Given the description of an element on the screen output the (x, y) to click on. 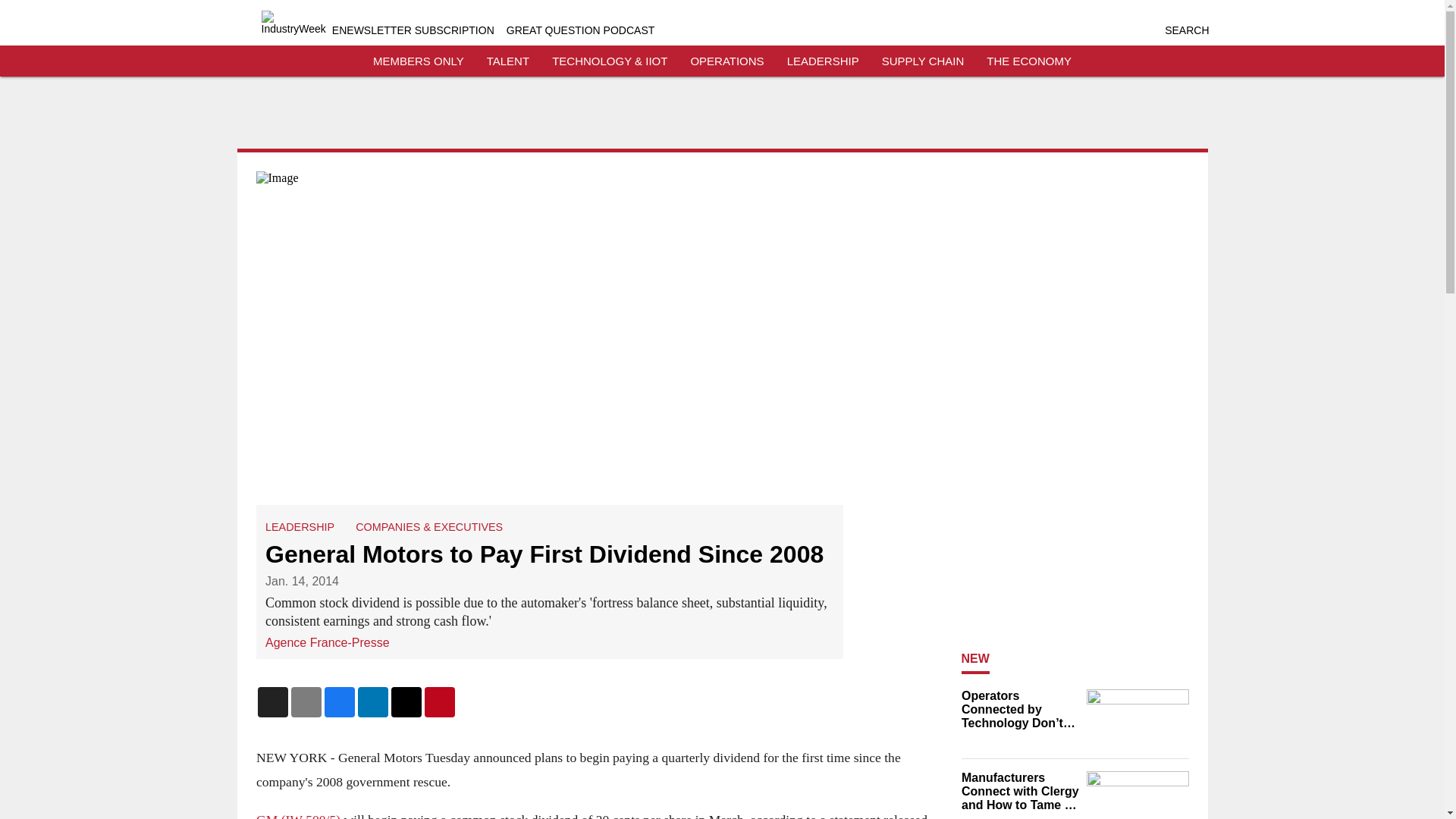
OPERATIONS (726, 60)
LEADERSHIP (823, 60)
Agence France-Presse (327, 642)
MEMBERS ONLY (418, 60)
THE ECONOMY (1029, 60)
SUPPLY CHAIN (922, 60)
SEARCH (1186, 30)
GREAT QUESTION PODCAST (580, 30)
